Given the description of an element on the screen output the (x, y) to click on. 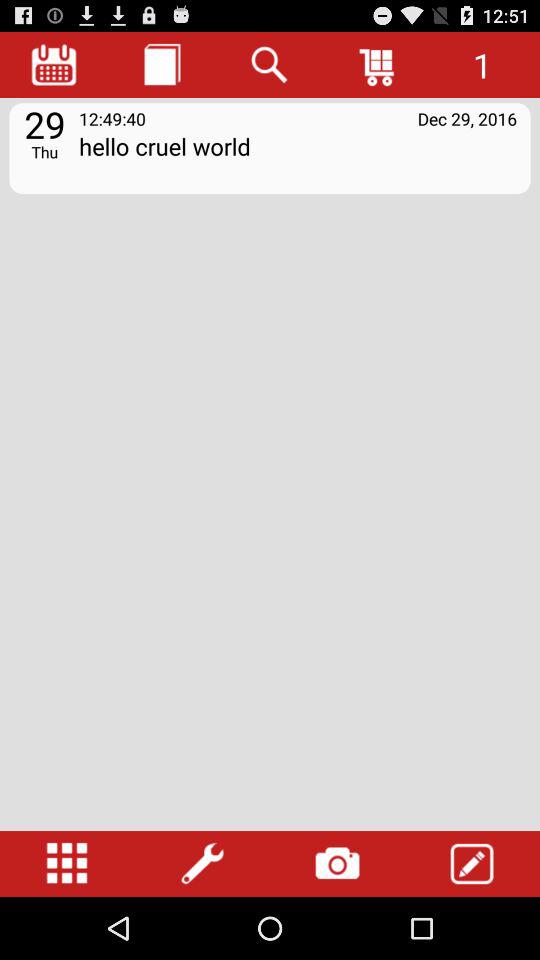
to search for something (270, 64)
